Given the description of an element on the screen output the (x, y) to click on. 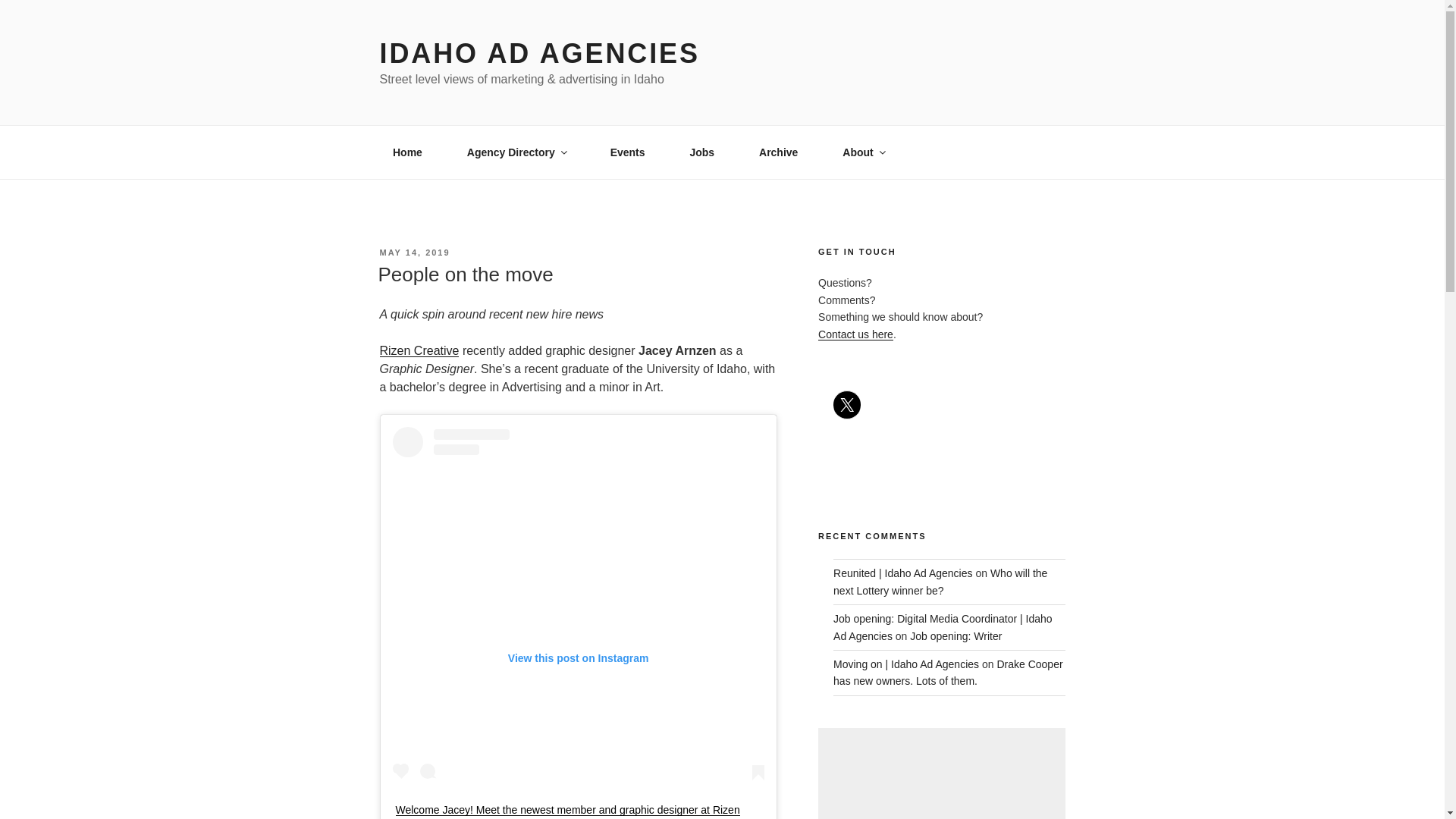
X (846, 404)
MAY 14, 2019 (413, 252)
Events (627, 151)
Archive (777, 151)
Rizen Creative (418, 350)
Contact us here (855, 334)
Home (406, 151)
Agency Directory (515, 151)
Jobs (702, 151)
Advertisement (941, 773)
IDAHO AD AGENCIES (538, 52)
View this post on Instagram (578, 606)
People on the move (465, 273)
About (862, 151)
